Given the description of an element on the screen output the (x, y) to click on. 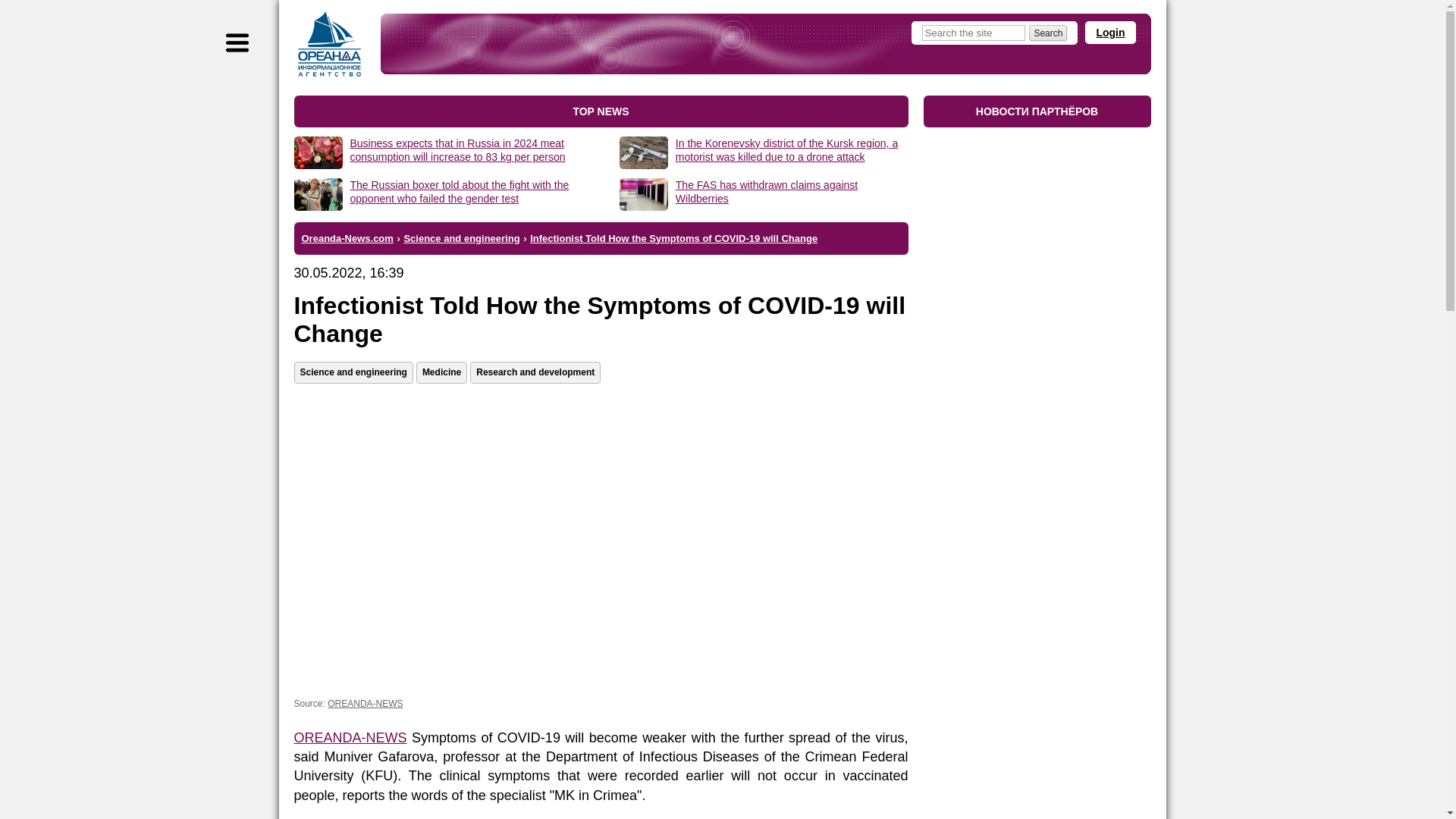
OREANDA-NEWS (365, 703)
Science and engineering (461, 237)
Infectionist Told How the Symptoms of COVID-19 will Change (672, 237)
Search (1048, 32)
Search (1048, 32)
Medicine (441, 372)
Login (1109, 32)
Science and engineering (353, 372)
OREANDA-NEWS (350, 737)
Oreanda-News.com (347, 237)
Research and development (534, 372)
To main page (329, 43)
